Given the description of an element on the screen output the (x, y) to click on. 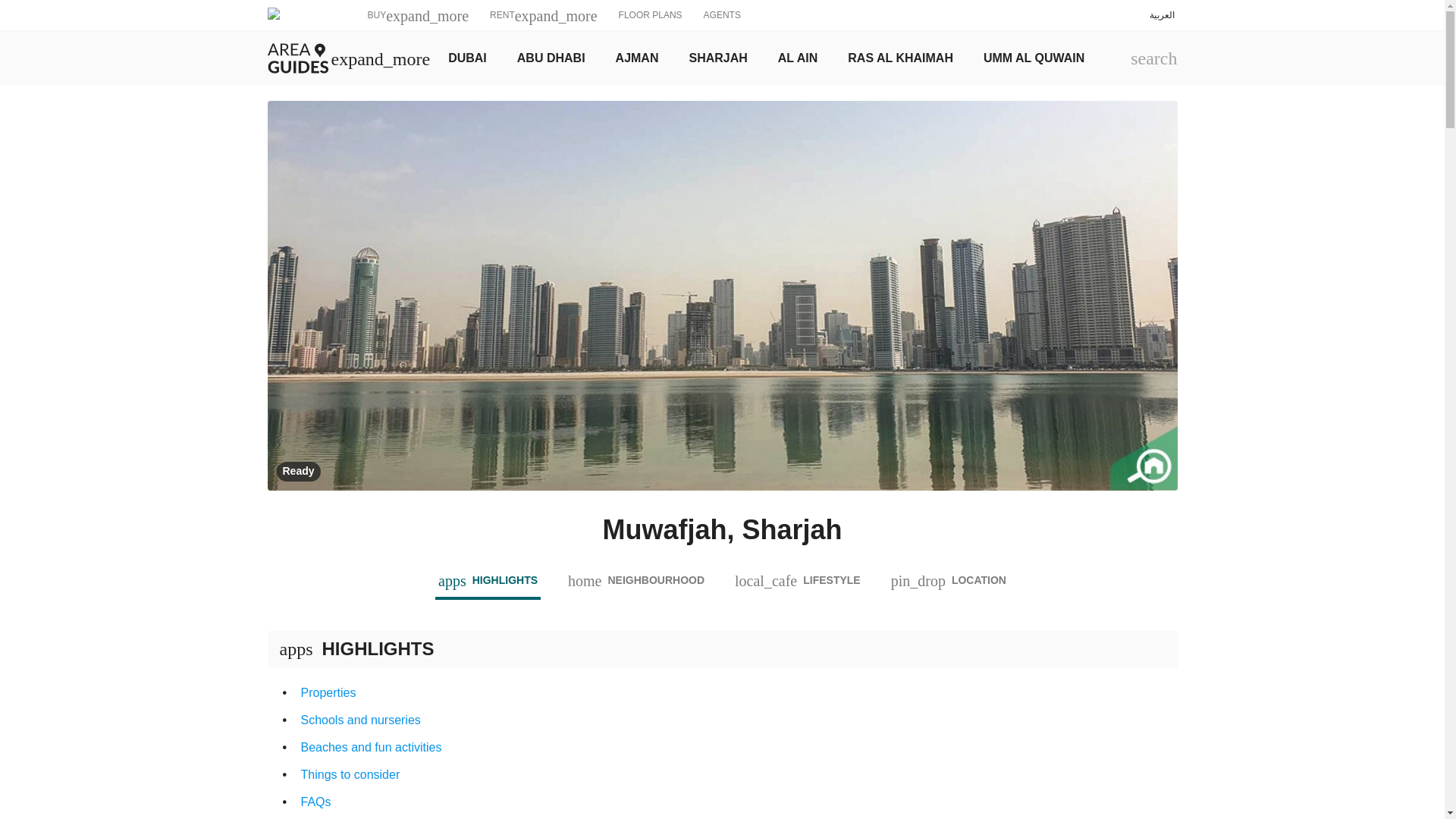
DUBAI (467, 58)
ABU DHABI (550, 58)
SHARJAH (717, 58)
AGENTS (722, 15)
ABOUT MUWAFJAH (721, 630)
UMM AL QUWAIN (721, 811)
FLOOR PLANS (1034, 58)
RAS AL KHAIMAH (650, 15)
AJMAN (900, 58)
